Given the description of an element on the screen output the (x, y) to click on. 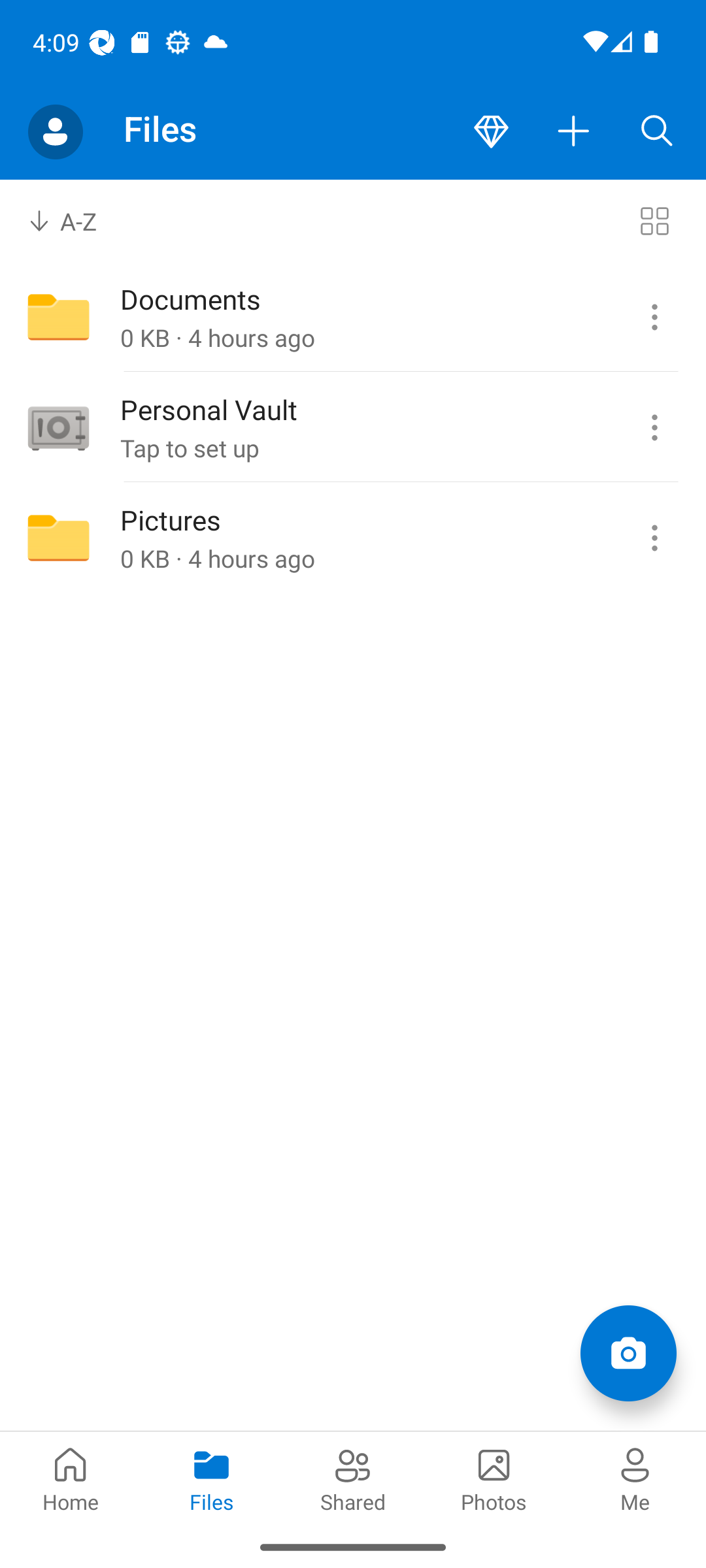
Account switcher (55, 131)
Premium button (491, 131)
More actions button (574, 131)
Search button (656, 131)
A-Z Sort by combo box, sort by name, A to Z (76, 220)
Switch to tiles view (654, 220)
Documents commands (654, 317)
Personal Vault commands (654, 427)
Pictures commands (654, 537)
Add items Scan (628, 1352)
Home pivot Home (70, 1478)
Shared pivot Shared (352, 1478)
Photos pivot Photos (493, 1478)
Me pivot Me (635, 1478)
